Given the description of an element on the screen output the (x, y) to click on. 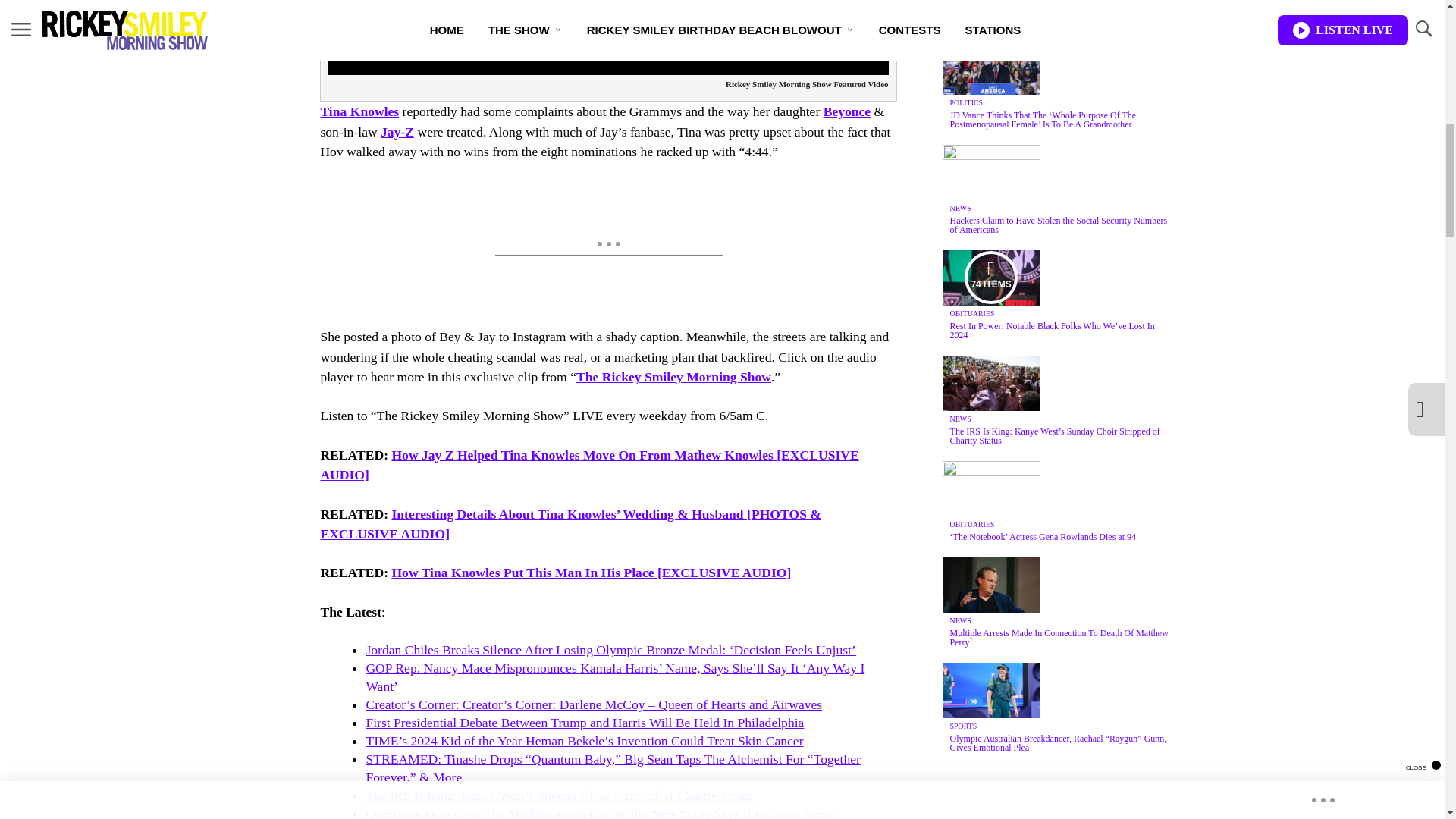
The Rickey Smiley Morning Show (673, 376)
Jay-Z (396, 131)
Media Playlist (990, 276)
Tina Knowles (359, 111)
Beyonce (847, 111)
